Given the description of an element on the screen output the (x, y) to click on. 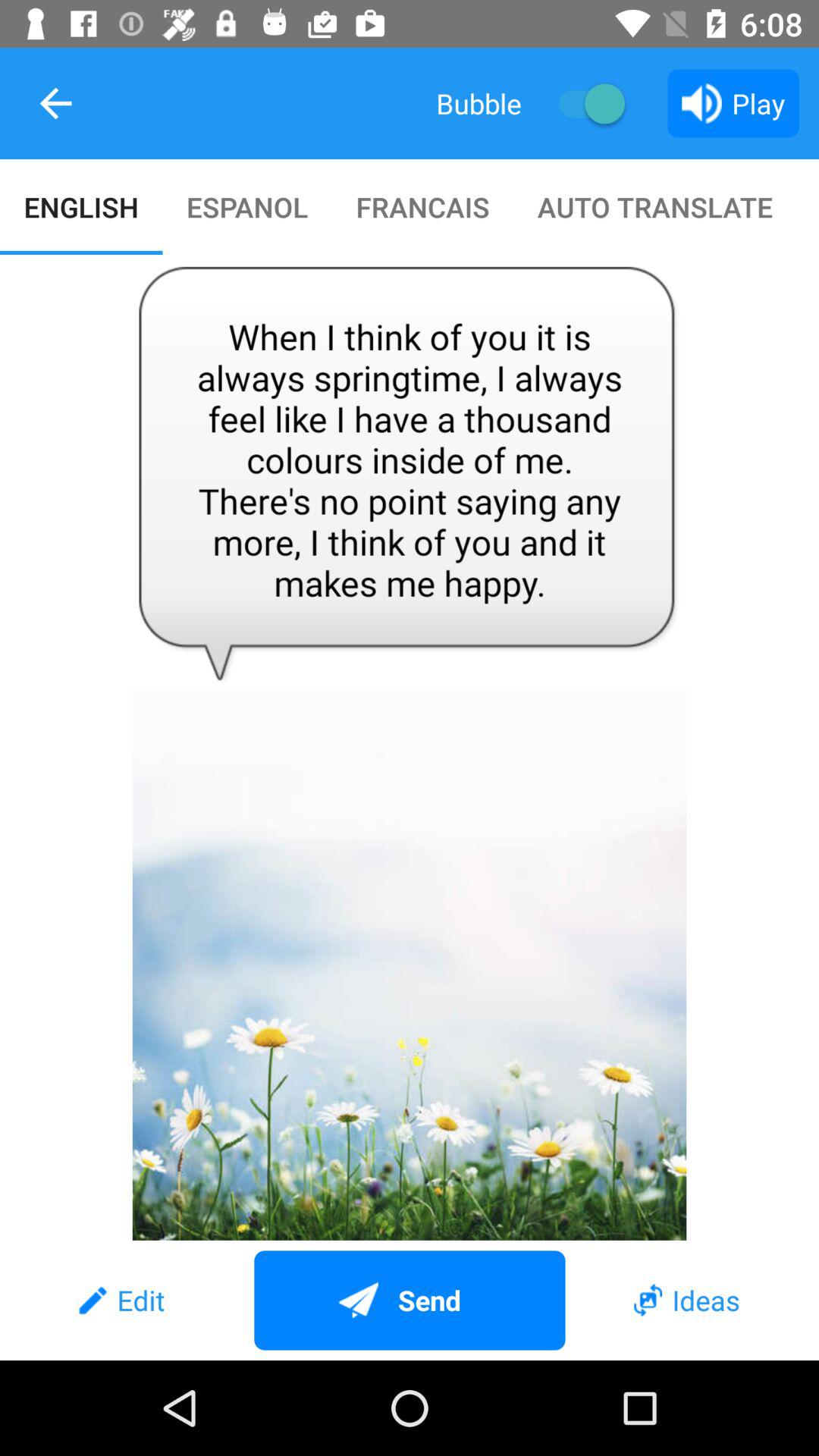
toggle on or off (584, 103)
